Given the description of an element on the screen output the (x, y) to click on. 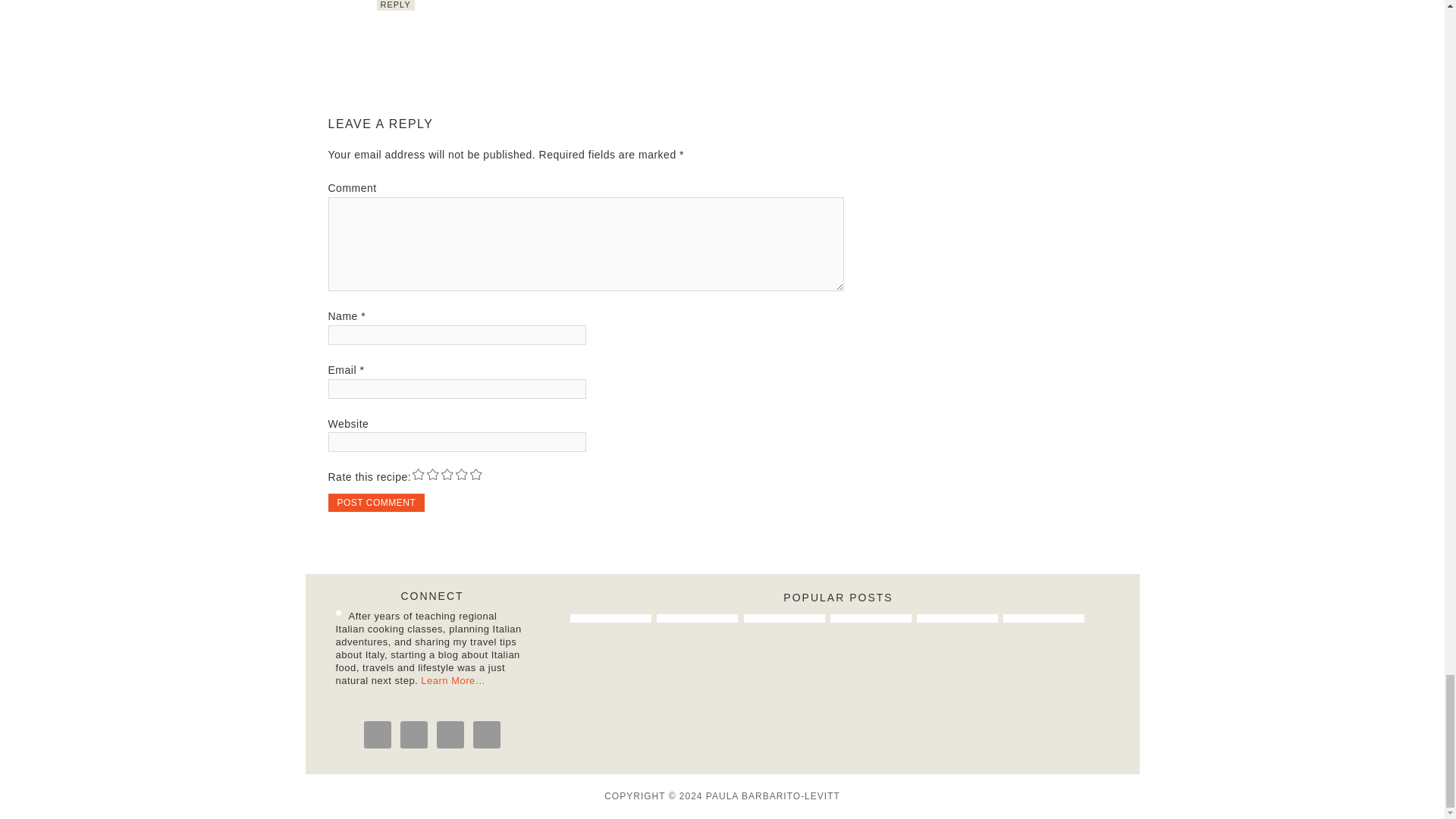
Post Comment (376, 502)
Post Comment (376, 502)
REPLY (394, 5)
